Given the description of an element on the screen output the (x, y) to click on. 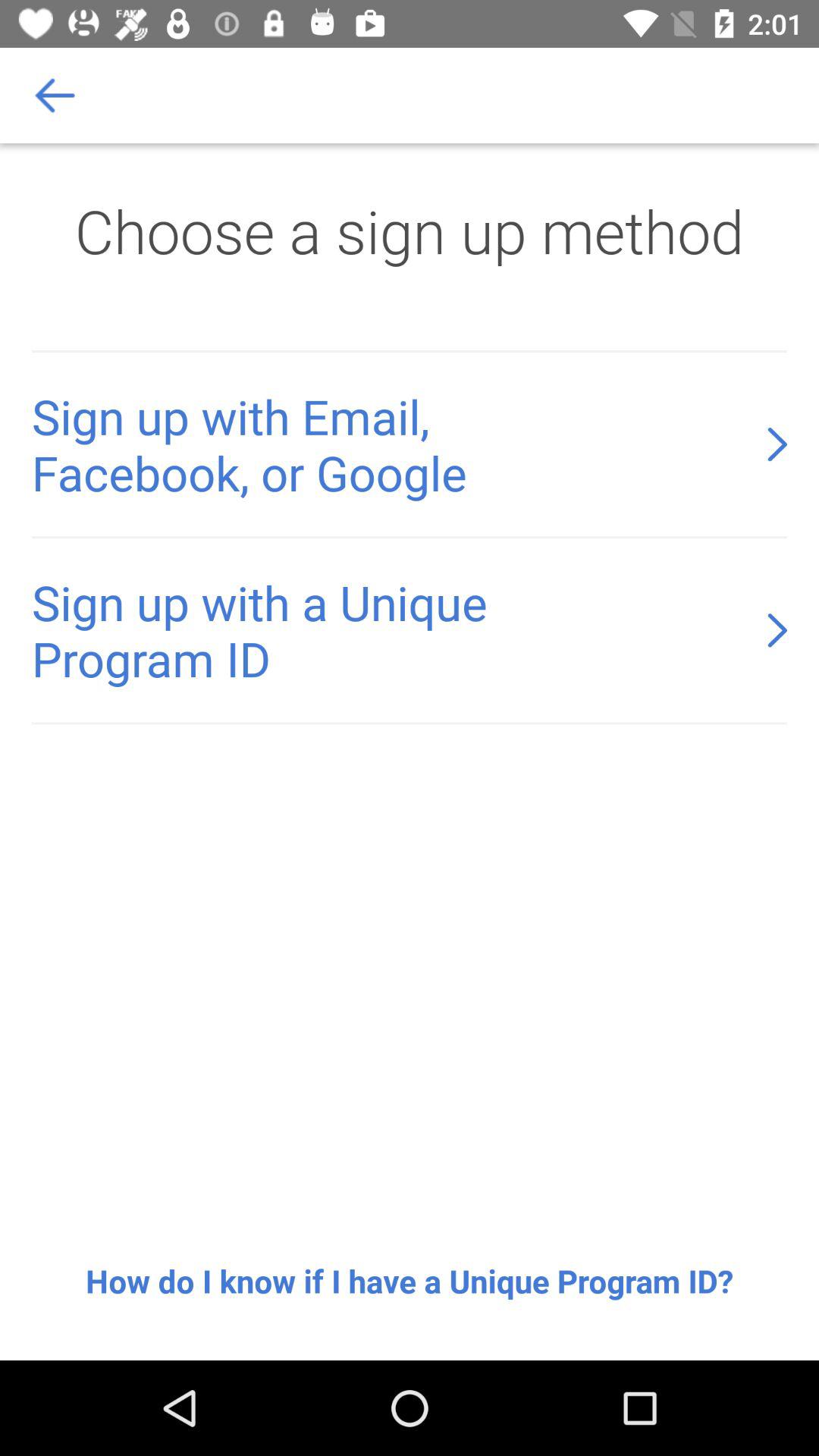
tap icon at the top left corner (55, 95)
